Given the description of an element on the screen output the (x, y) to click on. 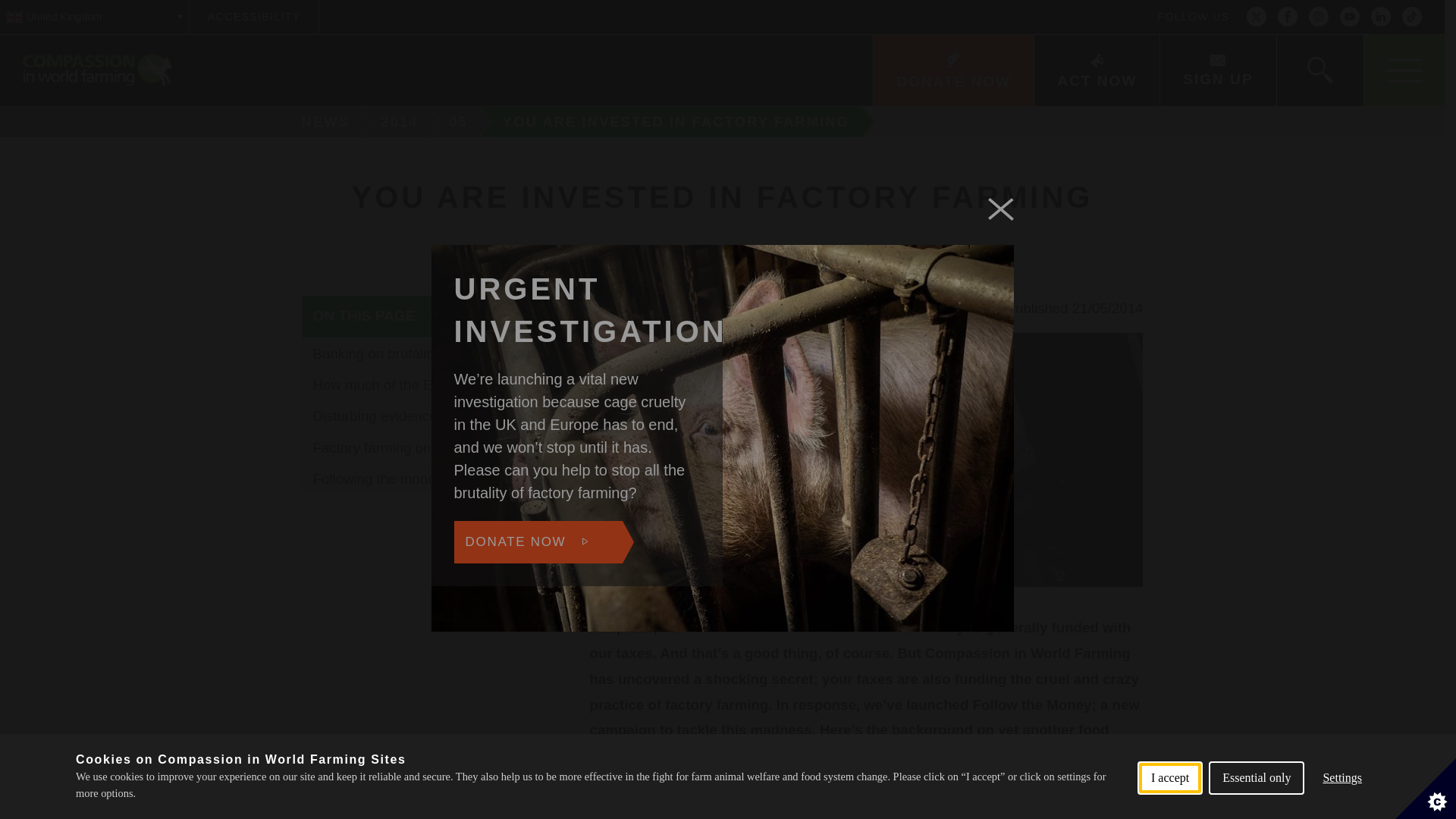
Instagram (1318, 16)
Twitter (1255, 16)
SIGN UP (1216, 70)
ACCESSIBILITY (253, 16)
YouTube (1350, 16)
Skip to Content (778, 1)
I accept (1169, 811)
Facebook (1287, 16)
LinkedIn (1380, 16)
Essential only (1256, 808)
ACT NOW (1095, 70)
United Kingdom (94, 16)
Settings (1342, 802)
DONATE NOW (952, 70)
TikTok (1412, 16)
